Given the description of an element on the screen output the (x, y) to click on. 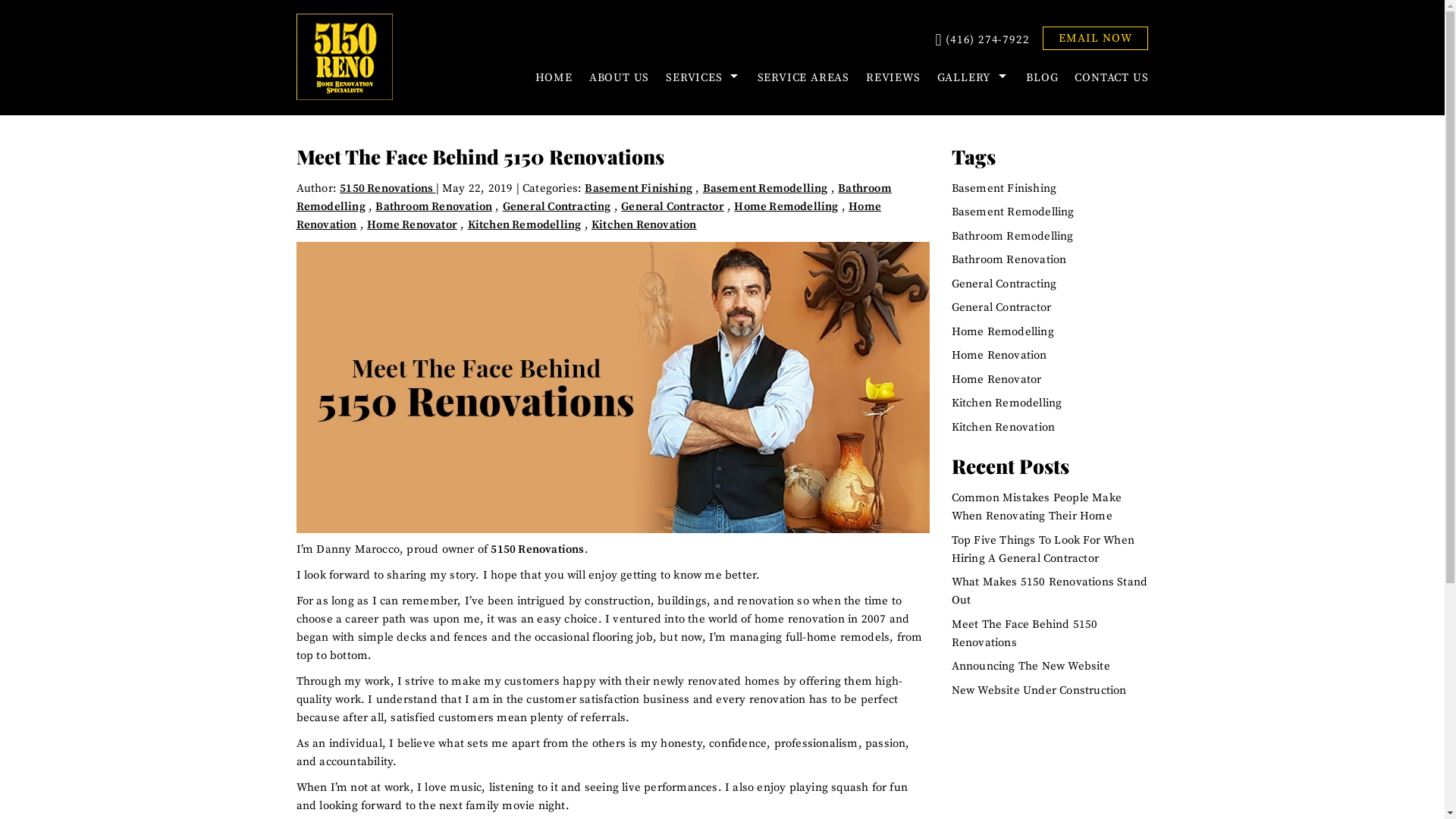
Home Renovator Element type: text (412, 224)
Bathroom Renovation Element type: text (433, 206)
Top Five Things To Look For When Hiring A General Contractor Element type: text (1042, 549)
SERVICE AREAS Element type: text (803, 77)
Basement Finishing Element type: text (1004, 188)
New Website Under Construction Element type: text (1038, 690)
REVIEWS Element type: text (892, 77)
CONTACT US Element type: text (1107, 77)
Basement Finishing Element type: text (638, 188)
EMAIL NOW Element type: text (1095, 38)
Home Renovation Element type: text (588, 215)
HOME Element type: text (553, 77)
(416) 274-7922 Element type: text (981, 39)
5150 Renovations Element type: text (536, 549)
Announcing The New Website Element type: text (1030, 665)
Basement Remodelling Element type: text (765, 188)
Bathroom Renovation Element type: text (1008, 259)
Meet The Face Behind 5150 Renovations Element type: text (1024, 633)
Home Renovator Element type: text (996, 379)
General Contracting Element type: text (1004, 283)
Kitchen Renovation Element type: text (643, 224)
General Contractor Element type: text (672, 206)
ABOUT US Element type: text (618, 77)
Home Renovation Element type: text (999, 355)
Common Mistakes People Make When Renovating Their Home Element type: text (1036, 506)
General Contractor Element type: text (1001, 307)
General Contracting Element type: text (556, 206)
Bathroom Remodelling Element type: text (593, 197)
Kitchen Remodelling Element type: text (1006, 402)
SERVICES Element type: text (702, 77)
Home Remodelling Element type: text (785, 206)
BLOG Element type: text (1041, 77)
GALLERY Element type: text (973, 77)
Bathroom Remodelling Element type: text (1012, 236)
What Makes 5150 Renovations Stand Out Element type: text (1049, 590)
Kitchen Remodelling Element type: text (524, 224)
Basement Remodelling Element type: text (1012, 211)
Kitchen Renovation Element type: text (1003, 427)
Home Remodelling Element type: text (1002, 331)
